Given the description of an element on the screen output the (x, y) to click on. 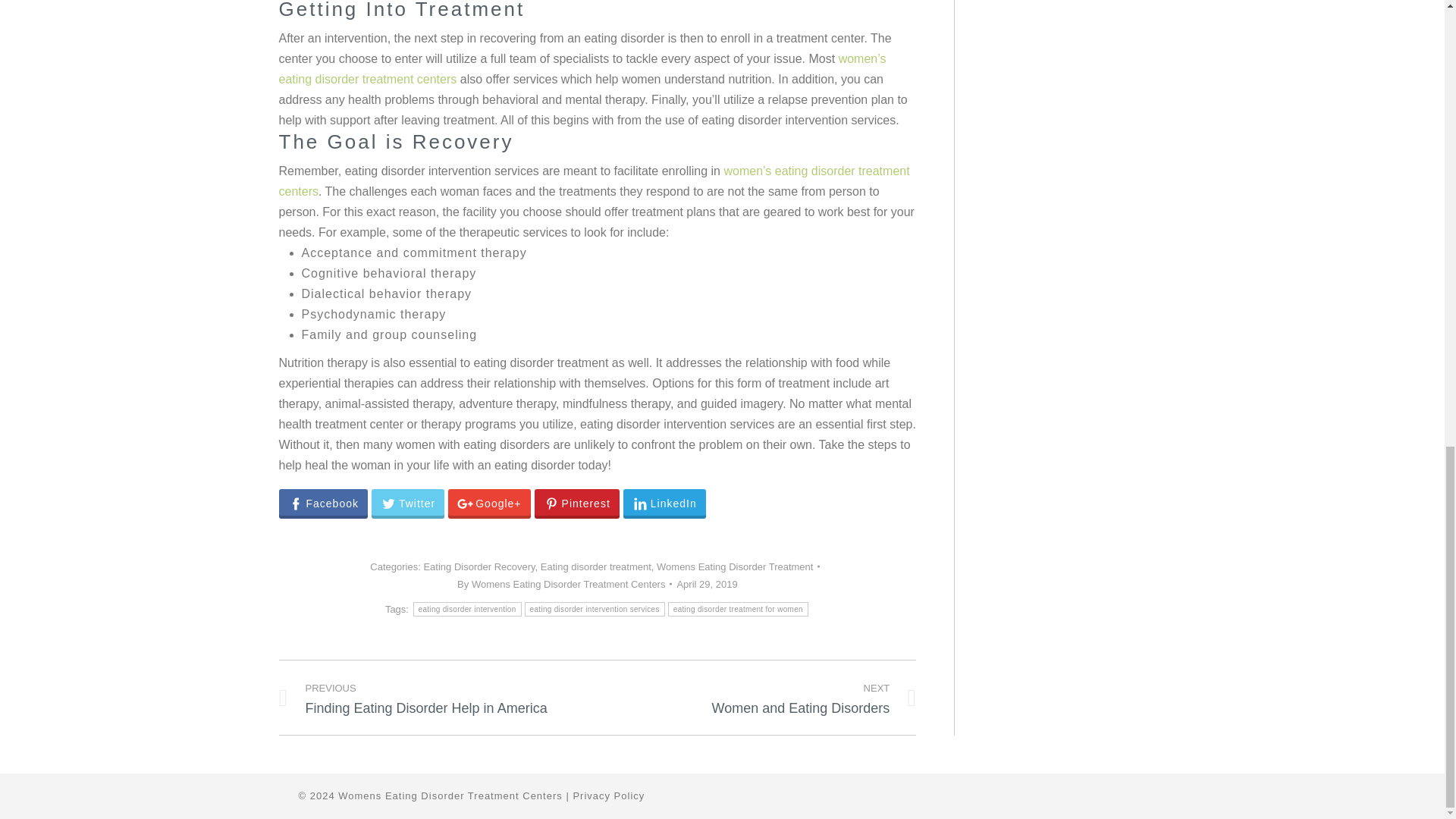
eating disorder intervention (467, 608)
View all posts by Womens Eating Disorder Treatment Centers (767, 697)
Twitter (564, 583)
Eating Disorder Recovery (407, 503)
By Womens Eating Disorder Treatment Centers (478, 566)
April 29, 2019 (564, 583)
eating disorder intervention services (706, 583)
Pinterest (594, 608)
LinkedIn (577, 503)
Facebook (664, 503)
Womens Eating Disorder Treatment (323, 503)
Eating disorder treatment (734, 566)
9:00 am (595, 566)
